Given the description of an element on the screen output the (x, y) to click on. 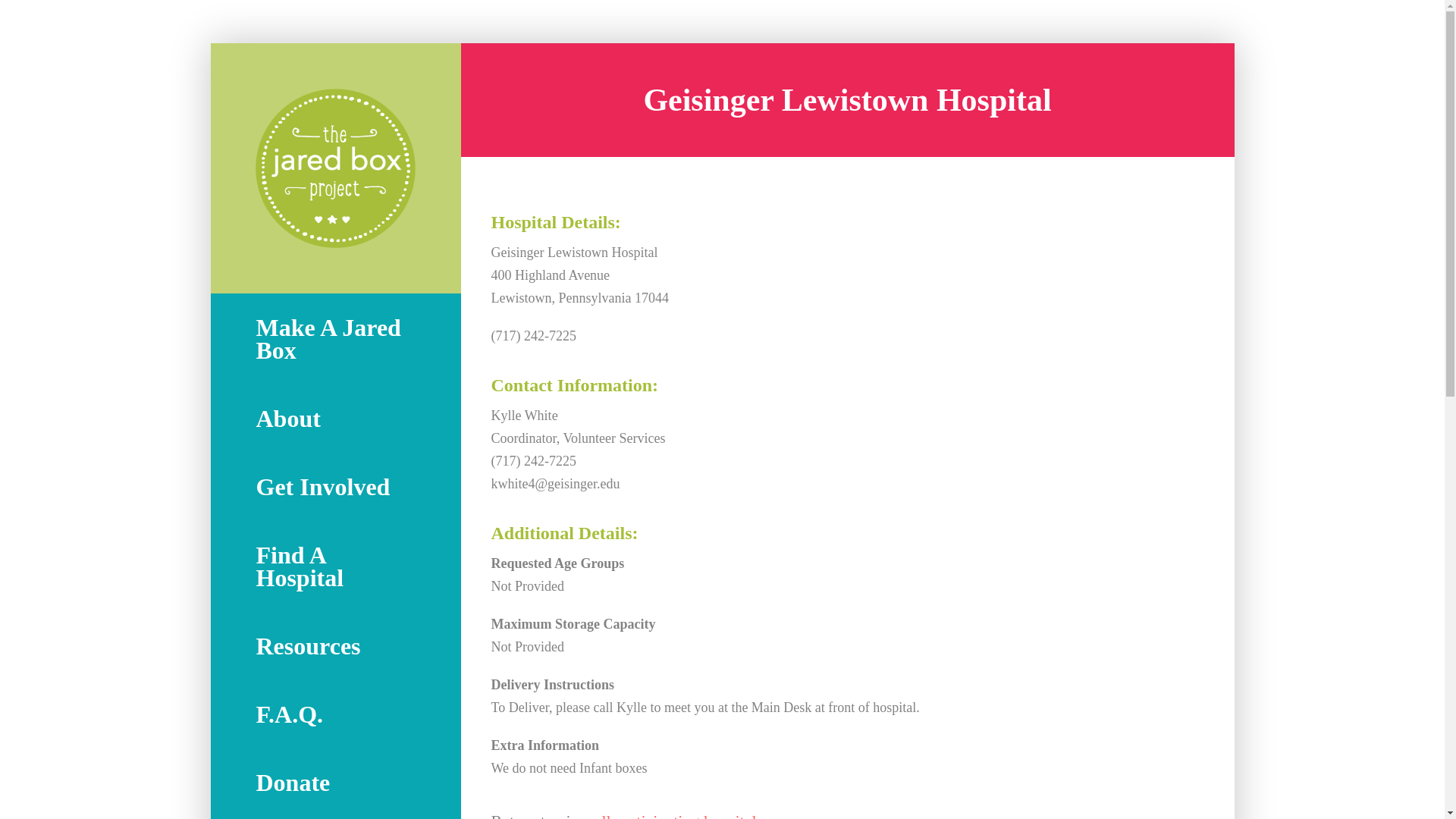
Return to view all participating hospitals. (847, 814)
About (334, 418)
Get Involved (334, 486)
all participating hospitals (678, 815)
Make A Jared Box (334, 338)
Resources (334, 645)
Donate (334, 782)
Find A Hospital (334, 565)
F.A.Q. (334, 714)
